Given the description of an element on the screen output the (x, y) to click on. 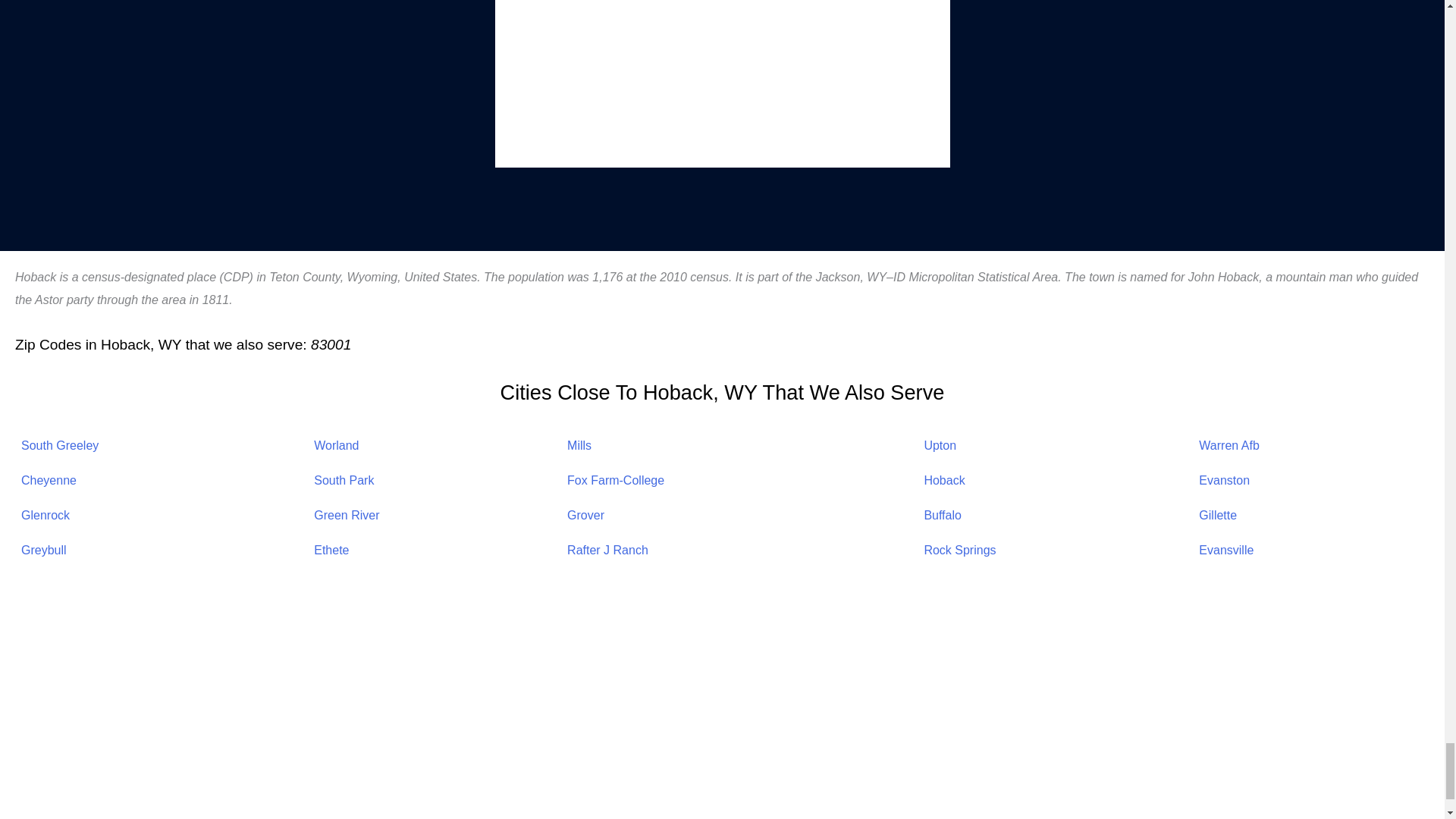
Fox Farm-College (615, 480)
Warren Afb (1228, 445)
Cheyenne (49, 480)
Worland (336, 445)
South Park (344, 480)
Upton (939, 445)
Mills (579, 445)
South Greeley (60, 445)
